Given the description of an element on the screen output the (x, y) to click on. 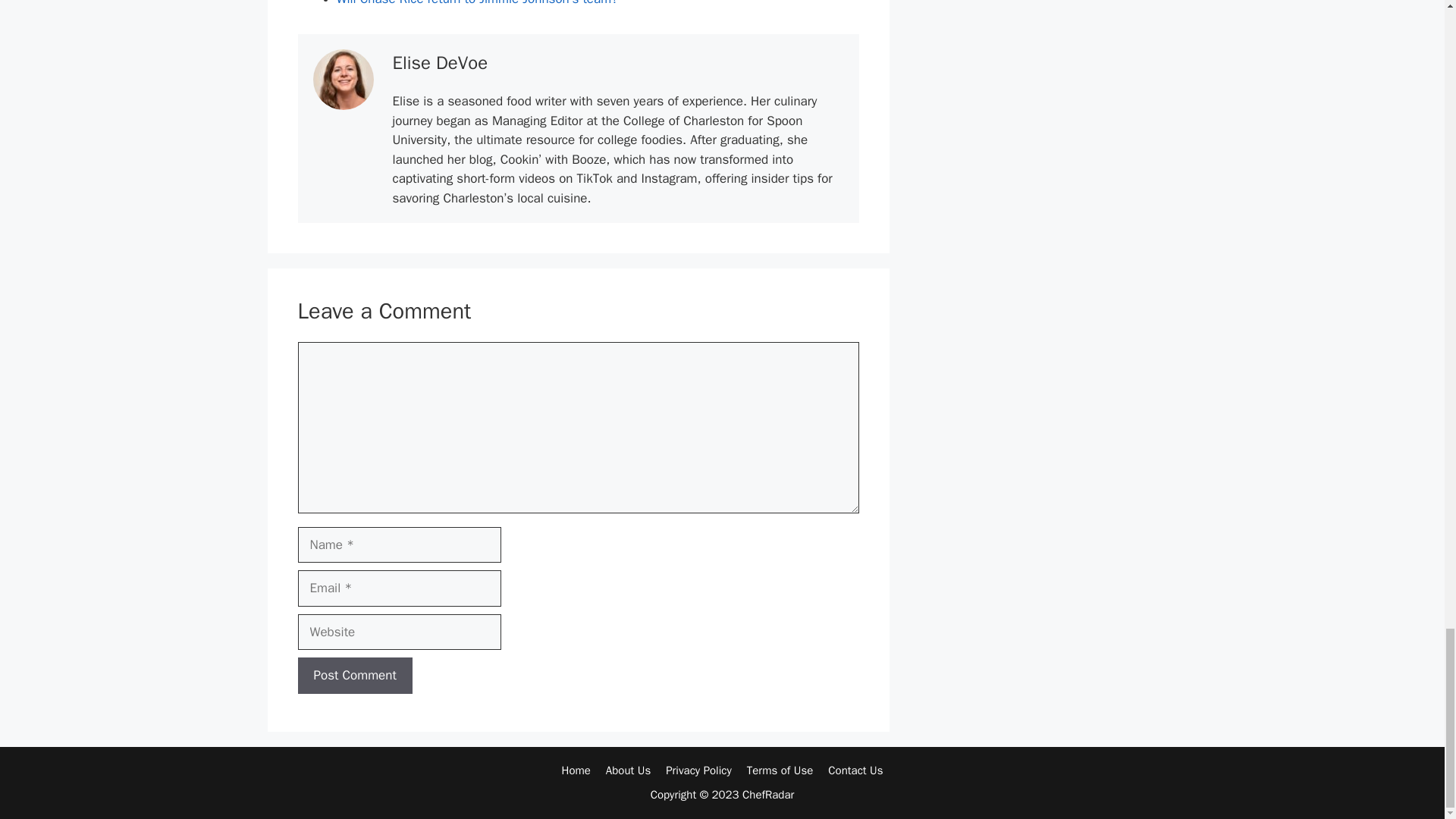
Post Comment (354, 675)
Home (574, 770)
Contact Us (855, 770)
Terms of Use (779, 770)
Post Comment (354, 675)
Privacy Policy (698, 770)
About Us (627, 770)
Elise DeVoe (440, 62)
